Given the description of an element on the screen output the (x, y) to click on. 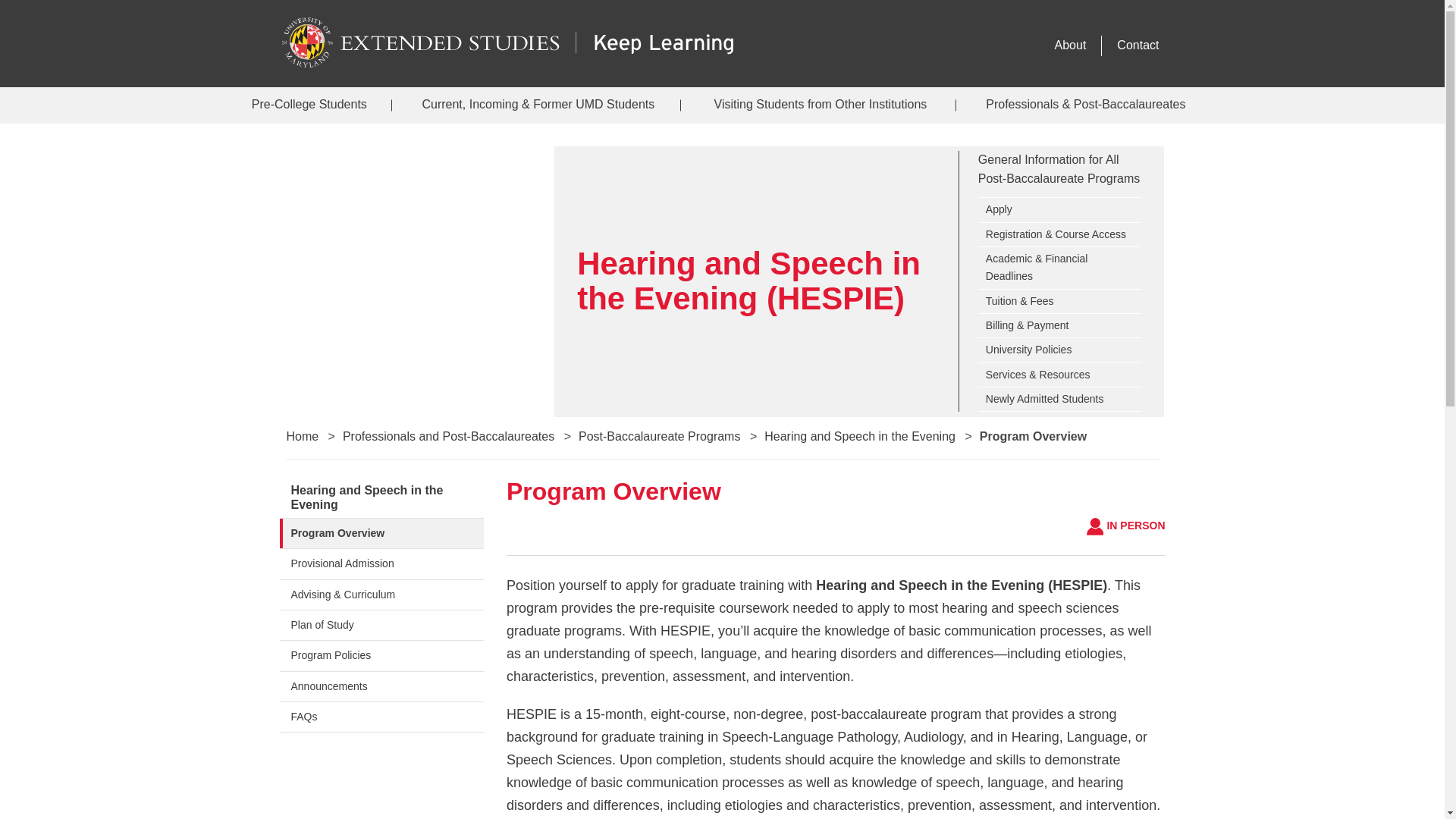
About (1070, 46)
Professionals and Post-Baccalaureates (448, 436)
Visiting Students from Other Institutions (820, 105)
Home (301, 436)
Program Policies (381, 655)
Apply (1059, 209)
Pre-College Students (308, 105)
FAQs (381, 716)
Hearing and Speech in the Evening (381, 497)
